Given the description of an element on the screen output the (x, y) to click on. 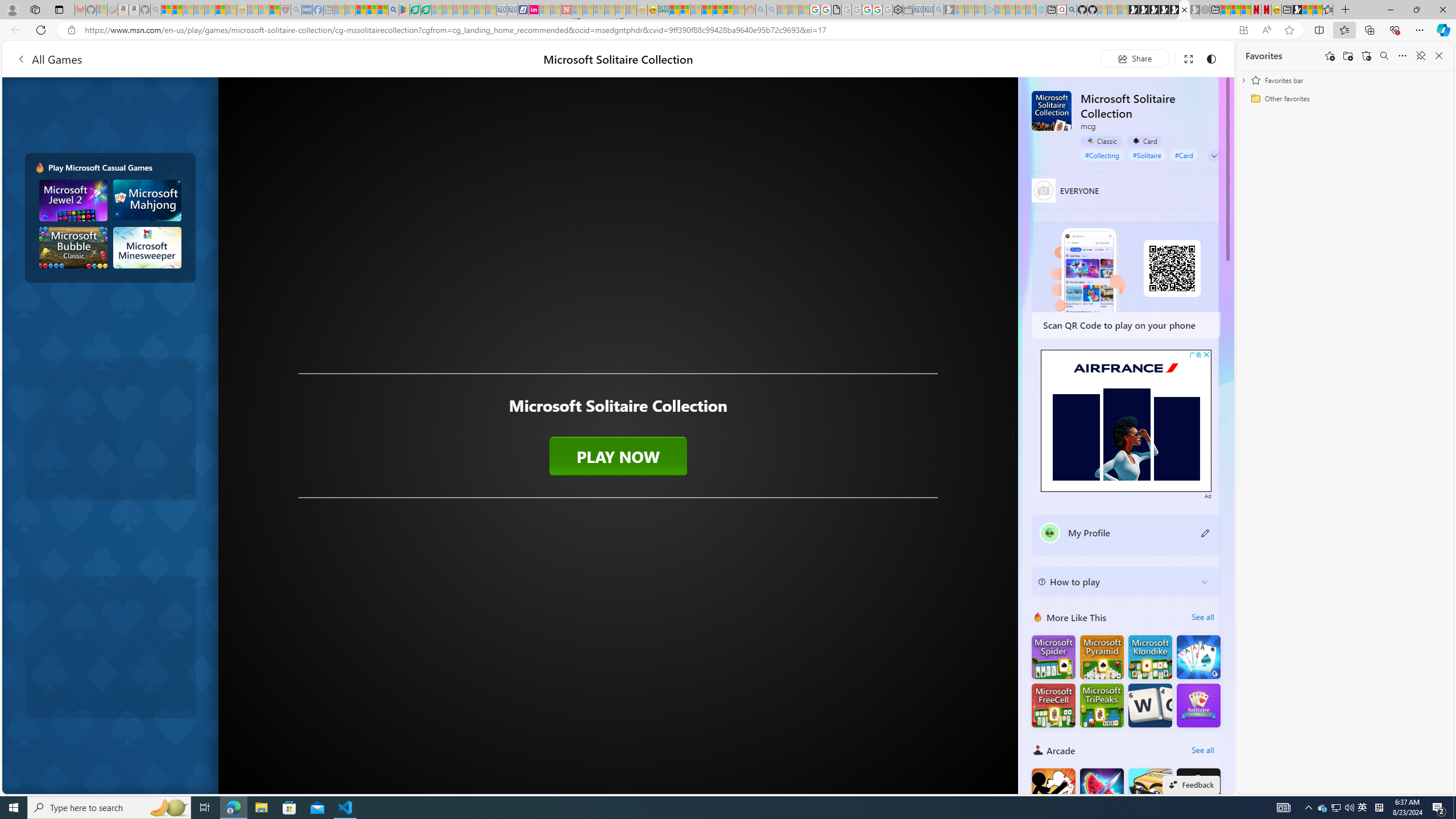
See all (1202, 750)
Bluey: Let's Play! - Apps on Google Play (404, 9)
Microsoft Pyramid Solitaire (1101, 657)
Wildlife - MSN (1307, 9)
Class: expand-arrow neutral (1214, 155)
Cheap Hotels - Save70.com - Sleeping (512, 9)
Change to dark mode (1211, 58)
Classic (1101, 140)
Terms of Use Agreement (414, 9)
